Given the description of an element on the screen output the (x, y) to click on. 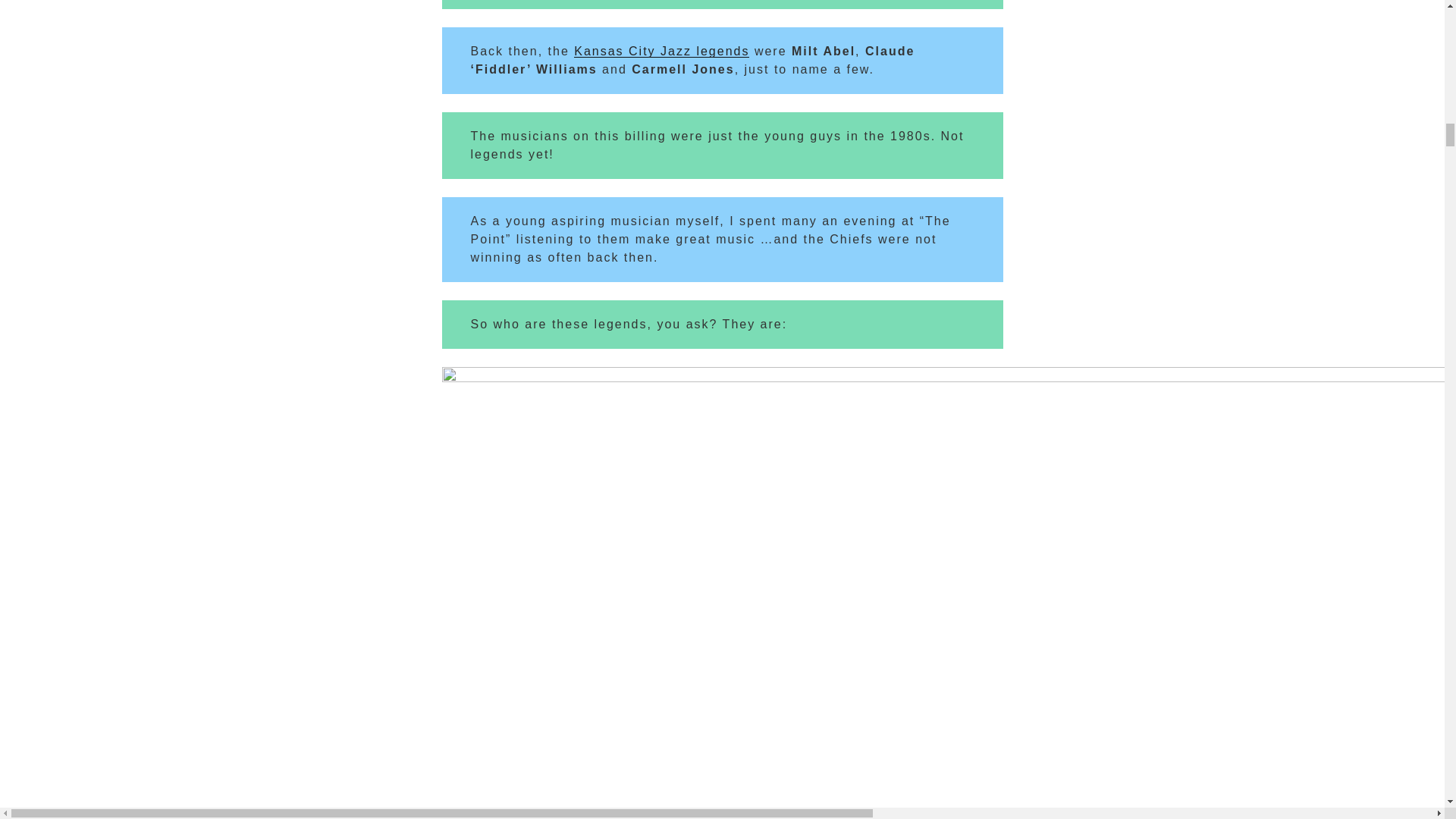
Kansas City Jazz legends (661, 51)
